Given the description of an element on the screen output the (x, y) to click on. 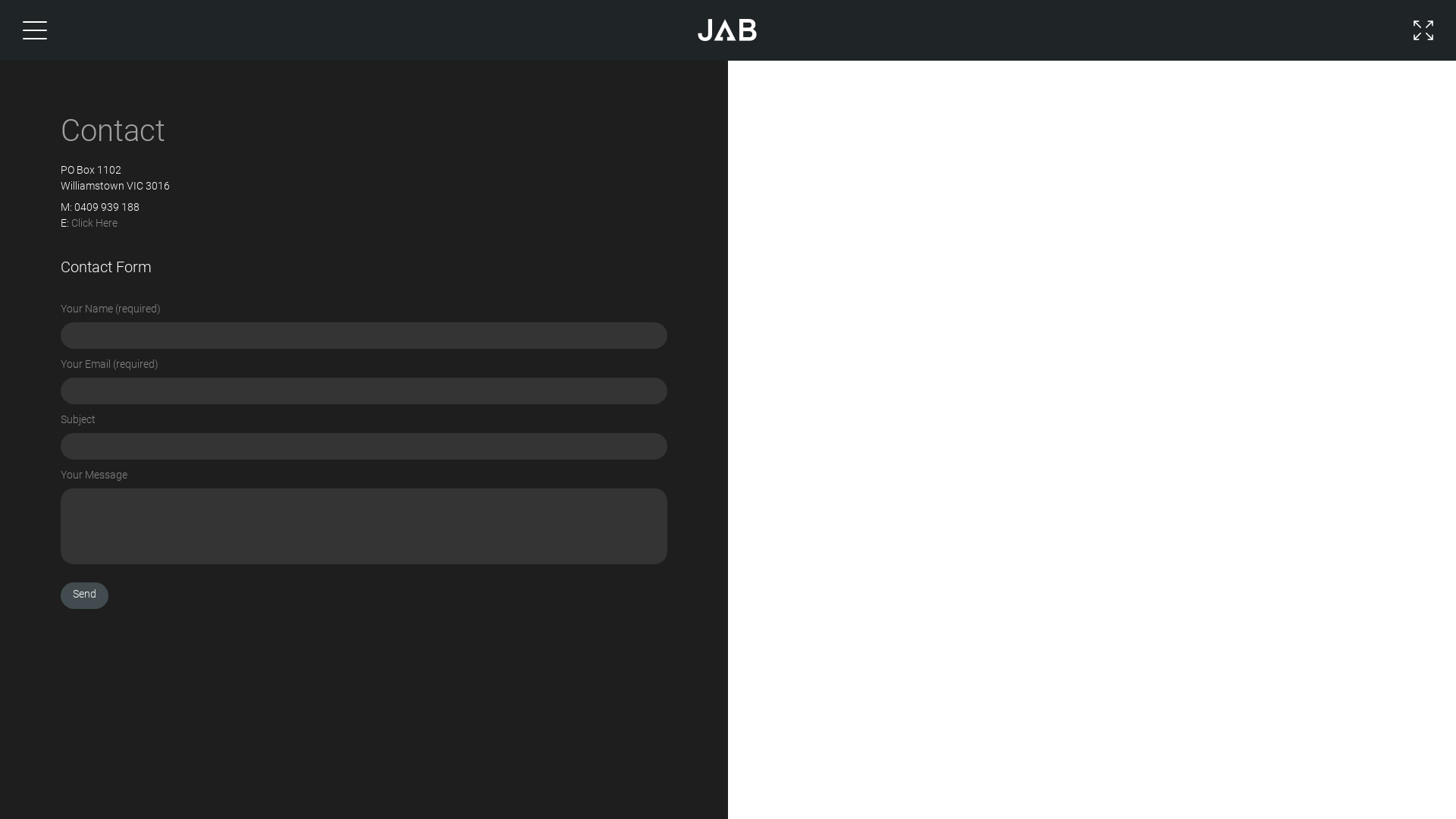
Click Here Element type: text (94, 222)
Send Element type: text (84, 595)
